Given the description of an element on the screen output the (x, y) to click on. 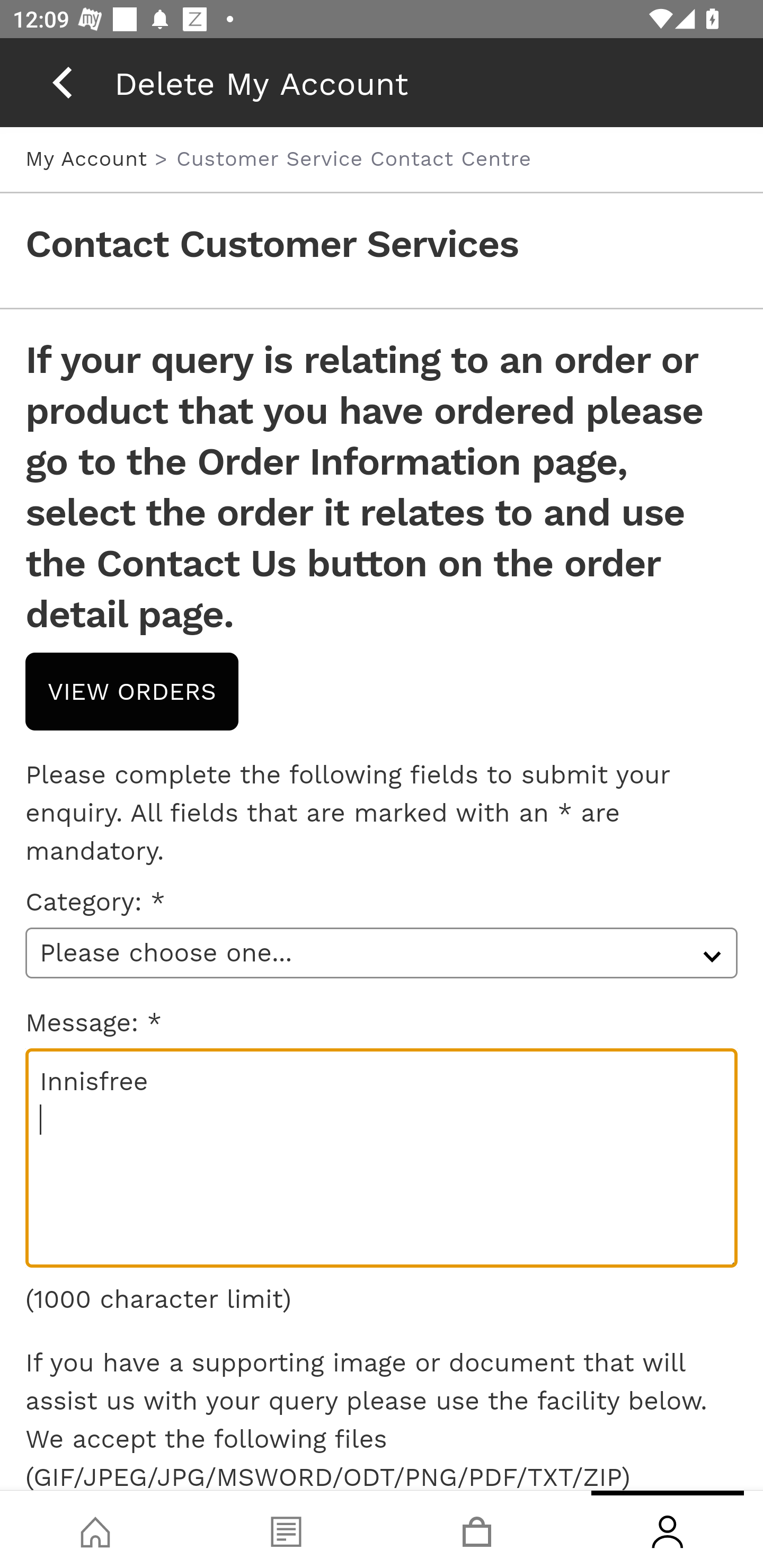
back (61, 82)
My Account  (90, 157)
VIEW ORDERS (132, 691)
Please choose one... (381, 952)
Innisfree
 (381, 1157)
Shop, tab, 1 of 4 (95, 1529)
Blog, tab, 2 of 4 (285, 1529)
Basket, tab, 3 of 4 (476, 1529)
Account, tab, 4 of 4 (667, 1529)
